Given the description of an element on the screen output the (x, y) to click on. 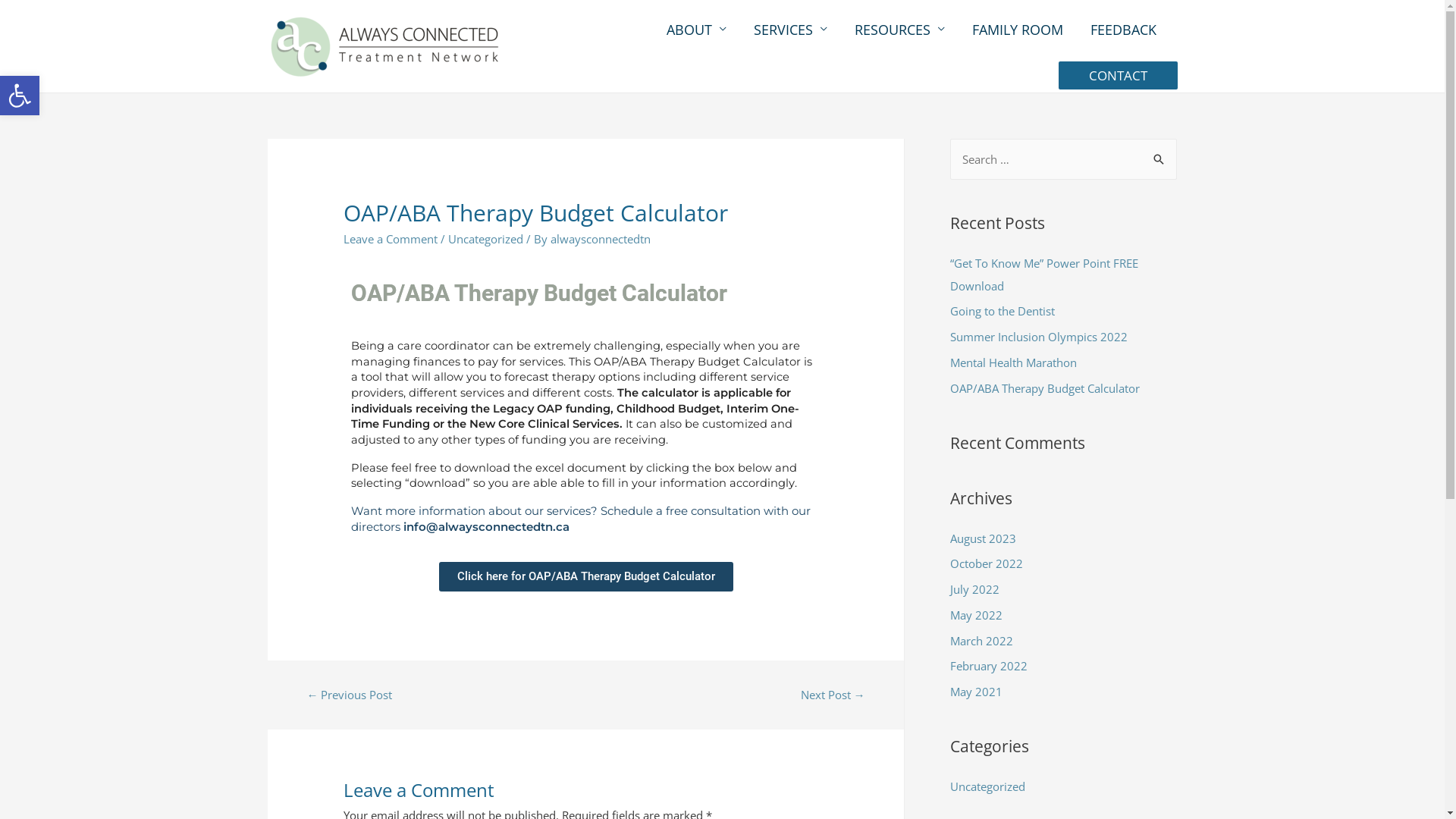
Leave a Comment Element type: text (390, 238)
SERVICES Element type: text (790, 29)
Click here for OAP/ABA Therapy Budget Calculator Element type: text (585, 576)
FEEDBACK Element type: text (1123, 29)
ABOUT Element type: text (695, 29)
alwaysconnectedtn Element type: text (600, 238)
FAMILY ROOM Element type: text (1017, 29)
October 2022 Element type: text (985, 563)
Going to the Dentist Element type: text (1001, 310)
August 2023 Element type: text (982, 538)
February 2022 Element type: text (987, 665)
OAP/ABA Therapy Budget Calculator Element type: text (1044, 387)
July 2022 Element type: text (973, 588)
Summer Inclusion Olympics 2022 Element type: text (1037, 336)
May 2022 Element type: text (975, 614)
CONTACT Element type: text (1117, 75)
Mental Health Marathon Element type: text (1012, 362)
May 2021 Element type: text (975, 691)
RESOURCES Element type: text (898, 29)
Uncategorized Element type: text (986, 785)
March 2022 Element type: text (980, 639)
Open toolbar
Accessibility Tools Element type: text (19, 95)
Uncategorized Element type: text (485, 238)
Search Element type: text (1159, 153)
